Given the description of an element on the screen output the (x, y) to click on. 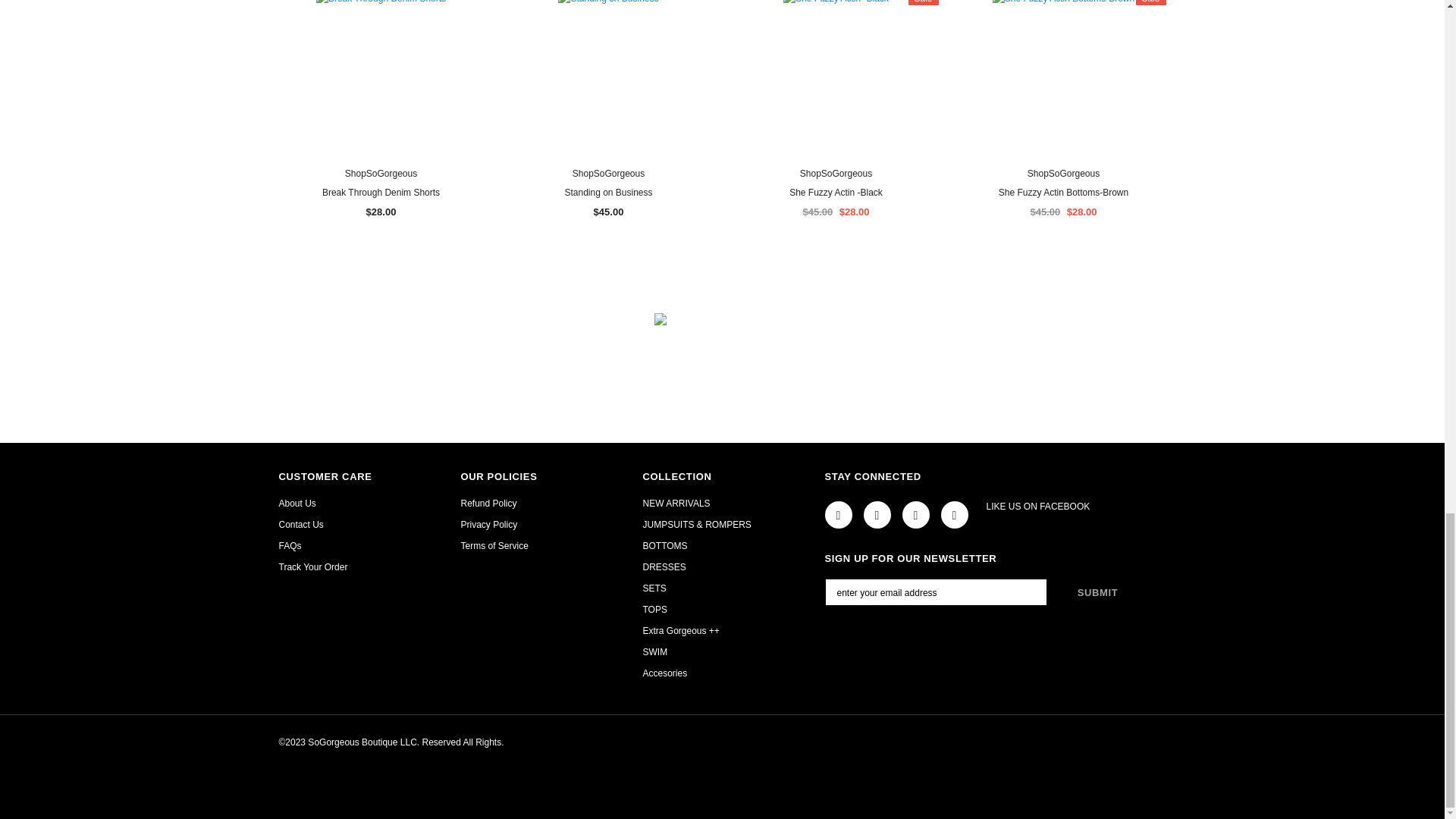
ShopSoGorgeous (380, 173)
ShopSoGorgeous (608, 173)
Submit (1097, 592)
